Given the description of an element on the screen output the (x, y) to click on. 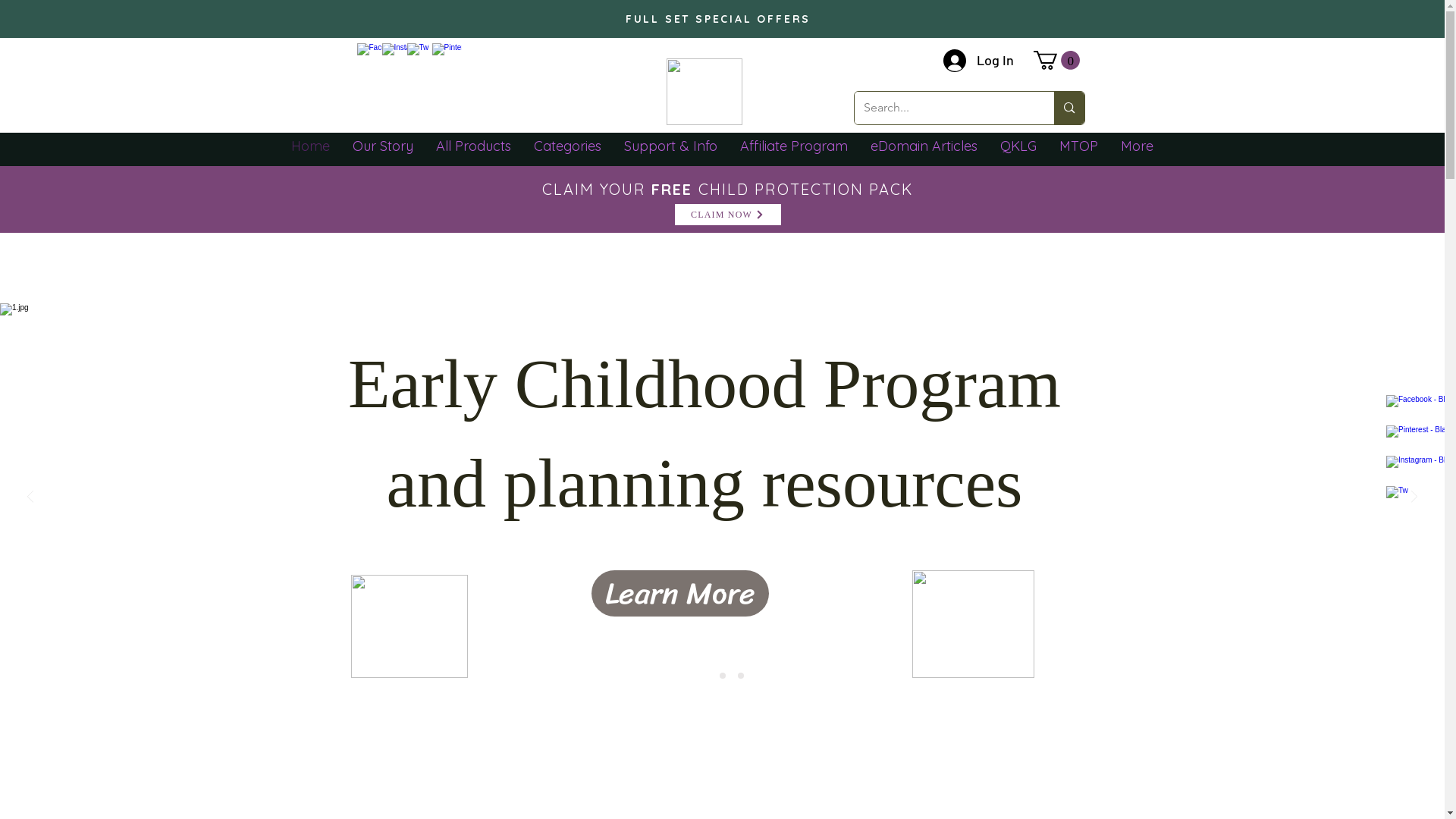
QKLG Element type: text (1018, 151)
eDomain Articles Element type: text (923, 151)
Affiliate Program Element type: text (793, 151)
Learn More Element type: text (679, 593)
FULL SET SPECIAL OFFERS Element type: text (717, 18)
All Products Element type: text (473, 151)
Home Element type: text (310, 151)
Our Story Element type: text (382, 151)
Log In Element type: text (978, 59)
MTOP Element type: text (1078, 151)
0 Element type: text (1055, 59)
CLAIM NOW Element type: text (727, 214)
